Given the description of an element on the screen output the (x, y) to click on. 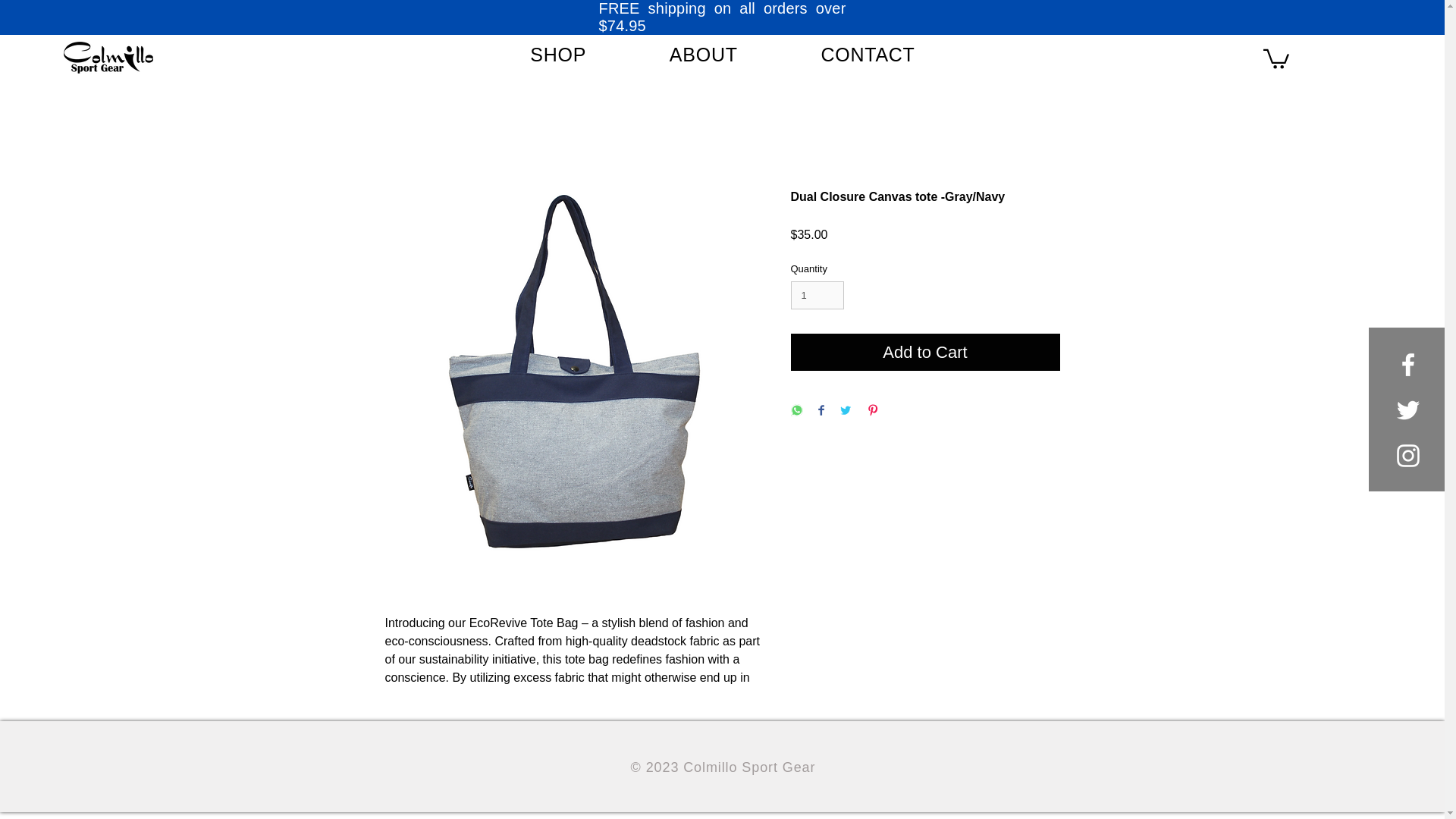
Add to Cart (924, 352)
1 (817, 295)
CONTACT (868, 54)
ABOUT (703, 54)
